Given the description of an element on the screen output the (x, y) to click on. 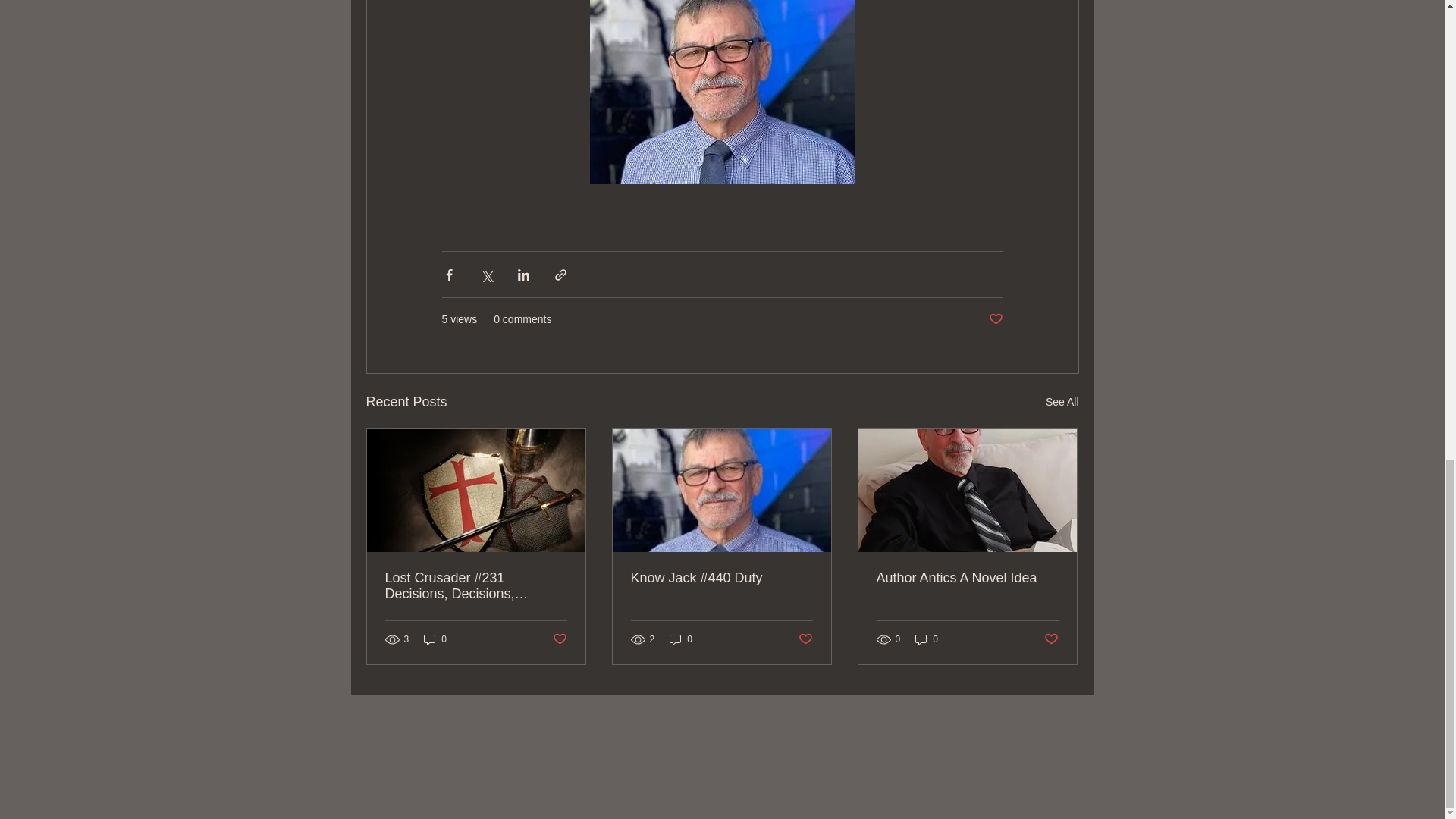
0 (926, 639)
Post not marked as liked (804, 639)
Author Antics A Novel Idea (967, 578)
0 (435, 639)
Post not marked as liked (1050, 639)
0 (681, 639)
See All (1061, 402)
Post not marked as liked (995, 319)
Post not marked as liked (558, 639)
